Given the description of an element on the screen output the (x, y) to click on. 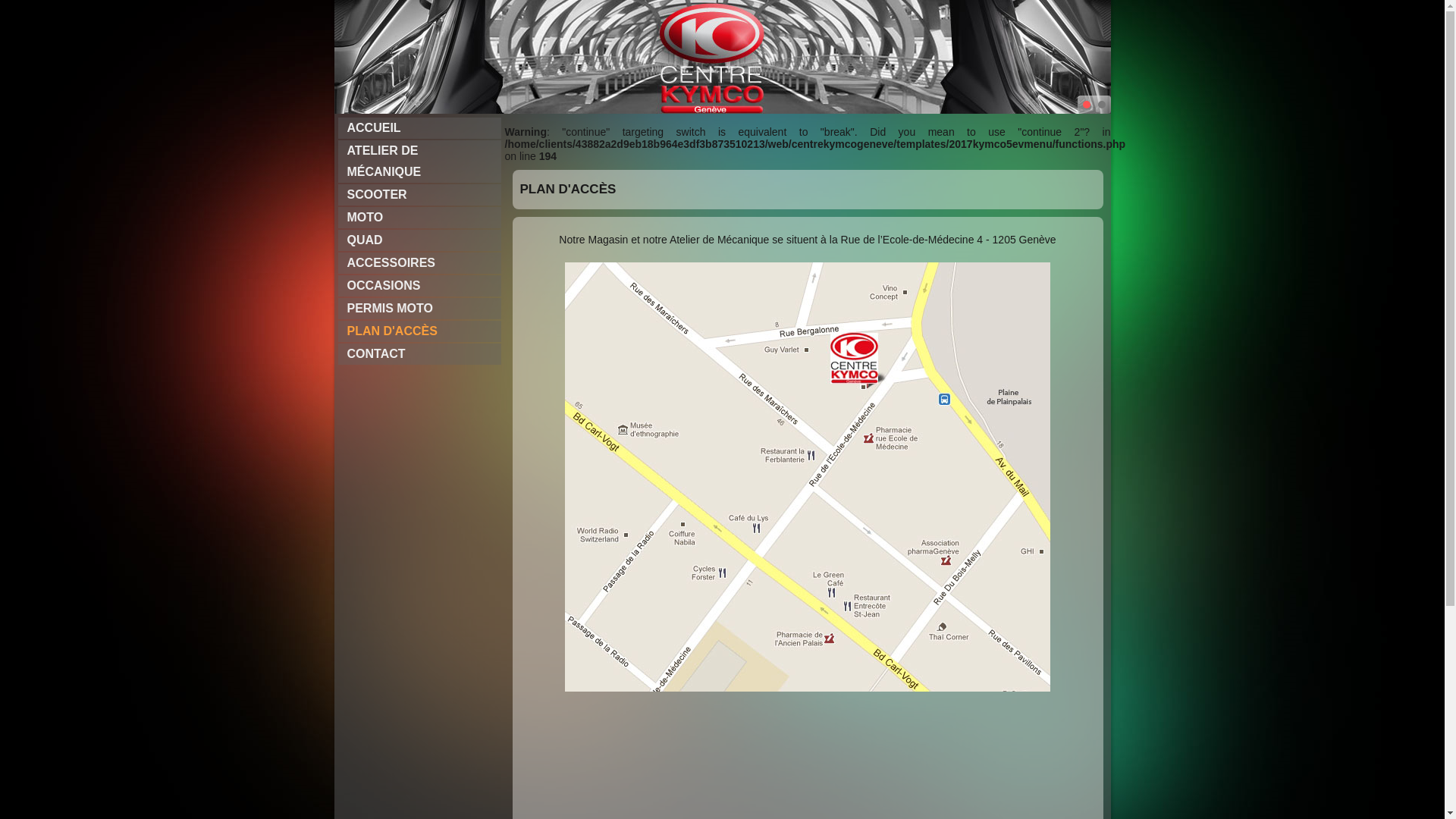
SCOOTER Element type: text (419, 194)
QUAD Element type: text (419, 240)
OCCASIONS Element type: text (419, 285)
ACCESSOIRES Element type: text (419, 262)
PERMIS MOTO Element type: text (419, 308)
CONTACT Element type: text (419, 353)
ACCUEIL Element type: text (419, 127)
MOTO Element type: text (419, 217)
